Given the description of an element on the screen output the (x, y) to click on. 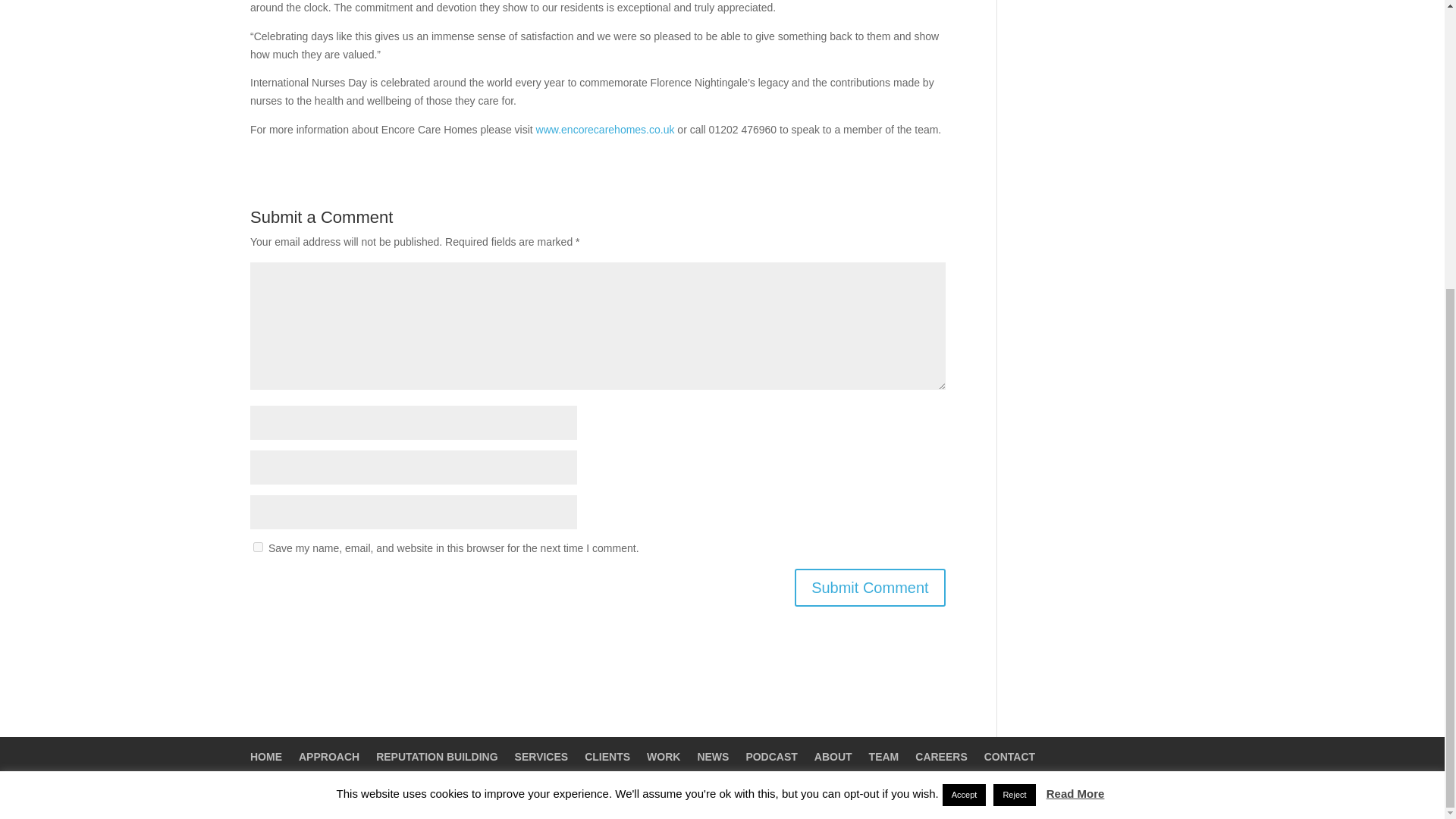
Submit Comment (869, 587)
SERVICES (542, 756)
WORK (662, 756)
APPROACH (328, 756)
www.encorecarehomes.co.uk (605, 129)
yes (258, 547)
CLIENTS (607, 756)
Submit Comment (869, 587)
HOME (266, 756)
REPUTATION BUILDING (436, 756)
